Given the description of an element on the screen output the (x, y) to click on. 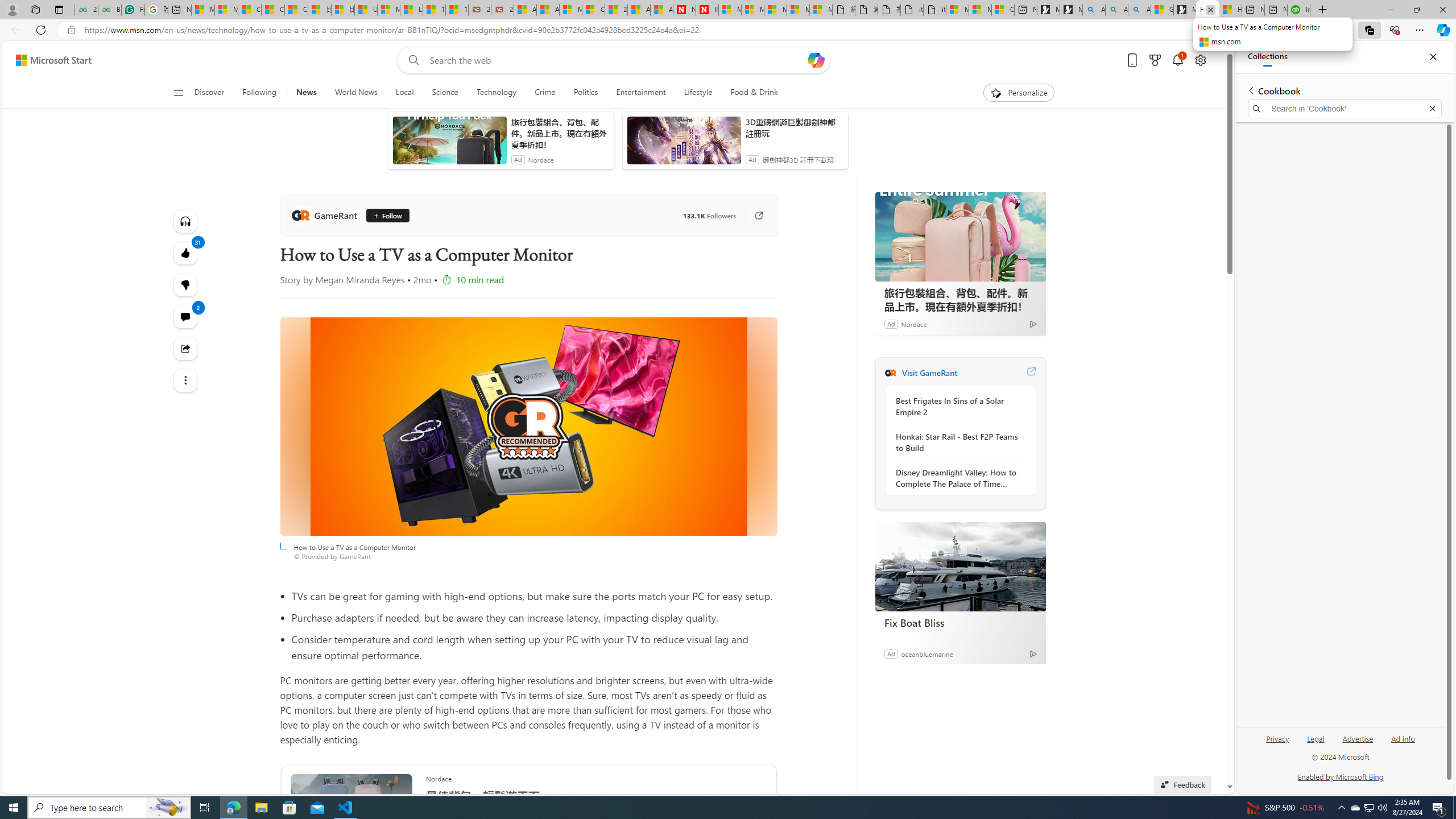
25 Basic Linux Commands For Beginners - GeeksforGeeks (86, 9)
Web search (411, 60)
Open settings (1199, 60)
Class: button-glyph (178, 92)
Technology (496, 92)
31 Like (184, 252)
Consumer Health Data Privacy Policy (1003, 9)
Technology (496, 92)
anim-content (683, 144)
Honkai: Star Rail - Best F2P Teams to Build (957, 441)
How to Use a TV as a Computer Monitor (1230, 9)
